Given the description of an element on the screen output the (x, y) to click on. 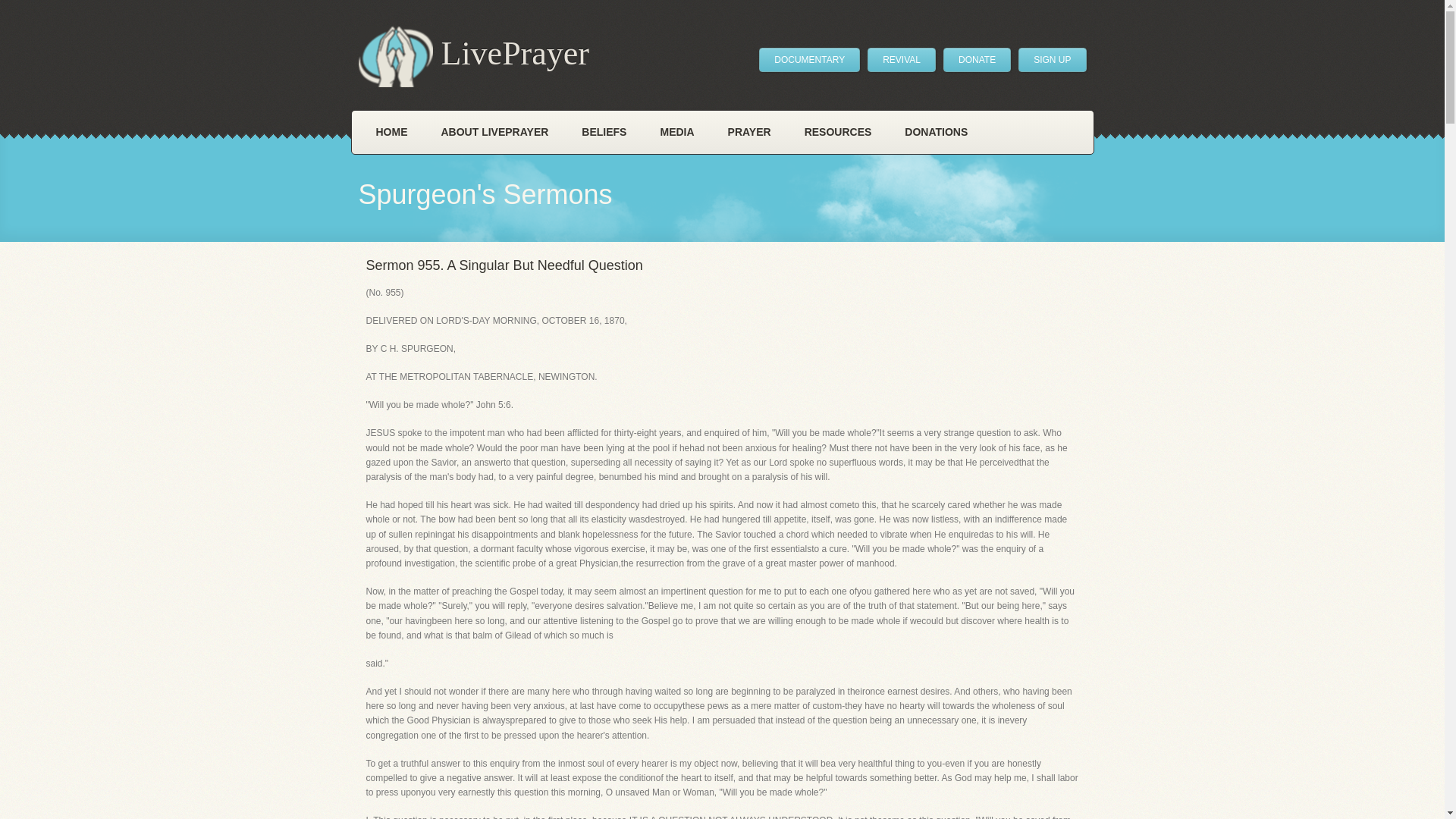
MEDIA (676, 131)
LivePrayer (473, 56)
ABOUT LIVEPRAYER (495, 131)
REVIVAL (901, 59)
BELIEFS (603, 131)
SIGN UP (1051, 59)
DONATE (976, 59)
HOME (392, 131)
DOCUMENTARY (809, 59)
